Given the description of an element on the screen output the (x, y) to click on. 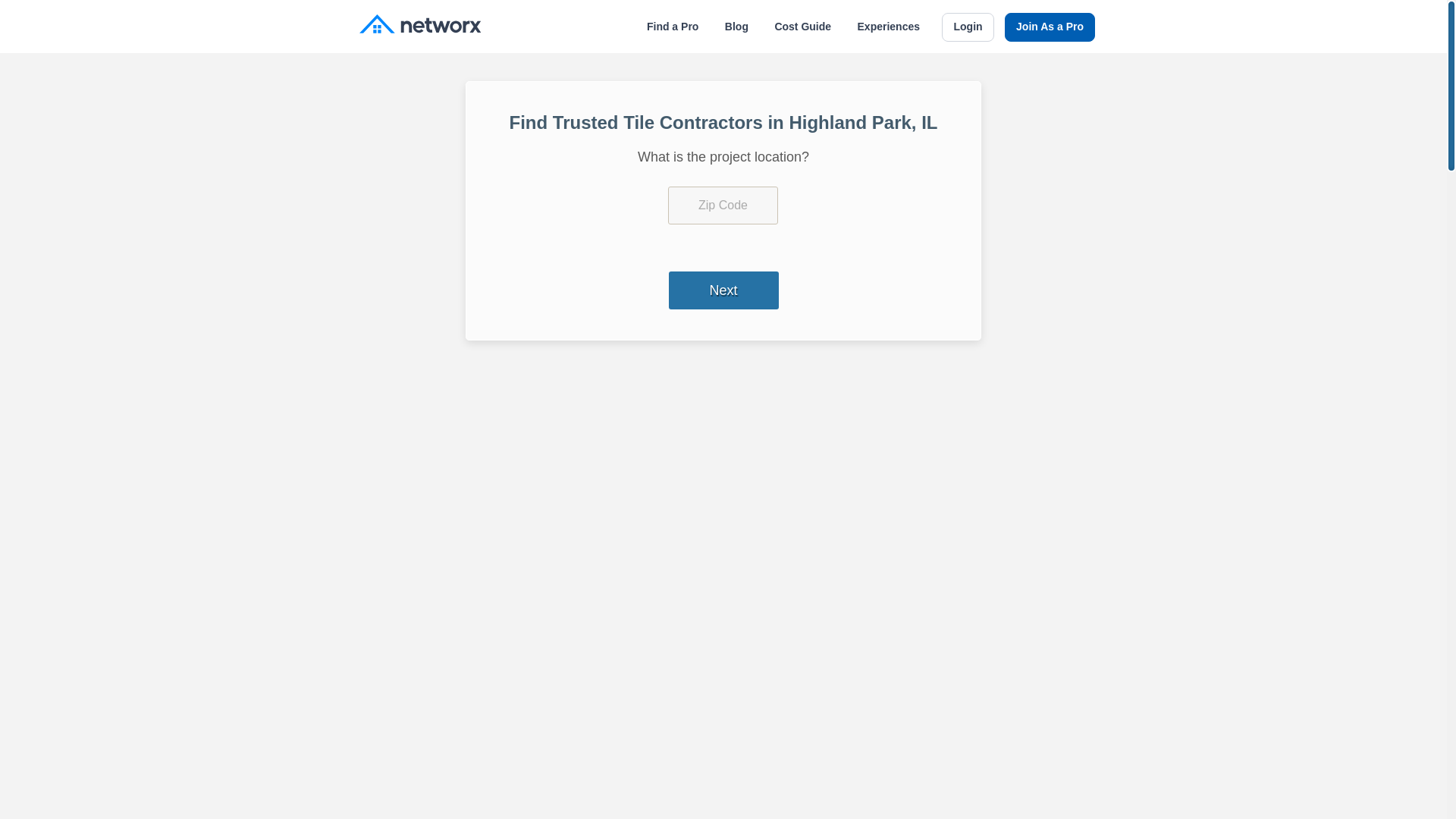
Cost Guide (802, 26)
Next (723, 290)
Join As a Pro (1049, 27)
Please enter a valid zip code (722, 205)
Find a Pro (672, 26)
Experiences (888, 26)
Blog (736, 26)
Networx (419, 25)
Login (967, 27)
